Given the description of an element on the screen output the (x, y) to click on. 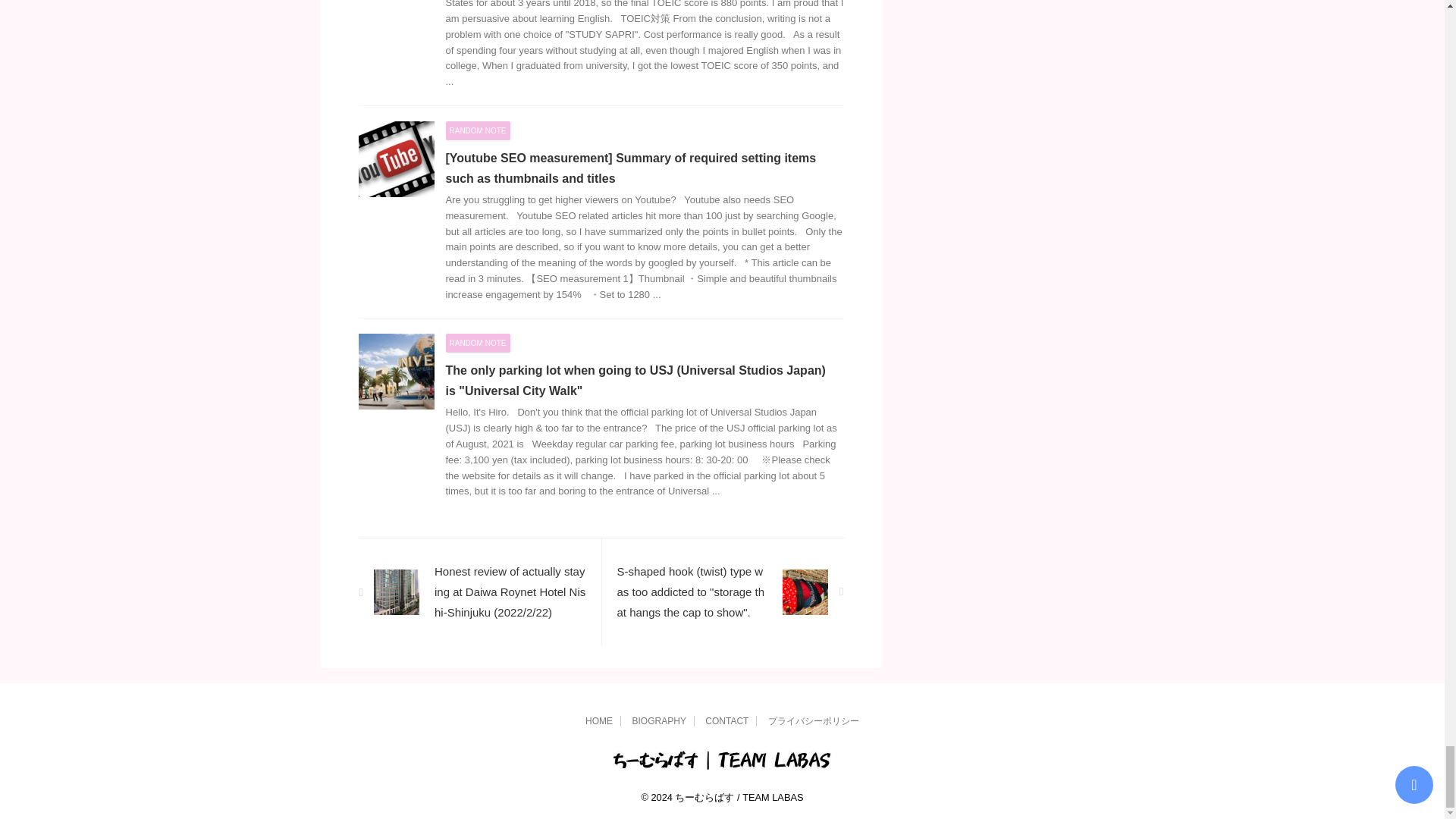
View all posts in RANDOM NOTE (478, 130)
View all posts in RANDOM NOTE (478, 342)
